Given the description of an element on the screen output the (x, y) to click on. 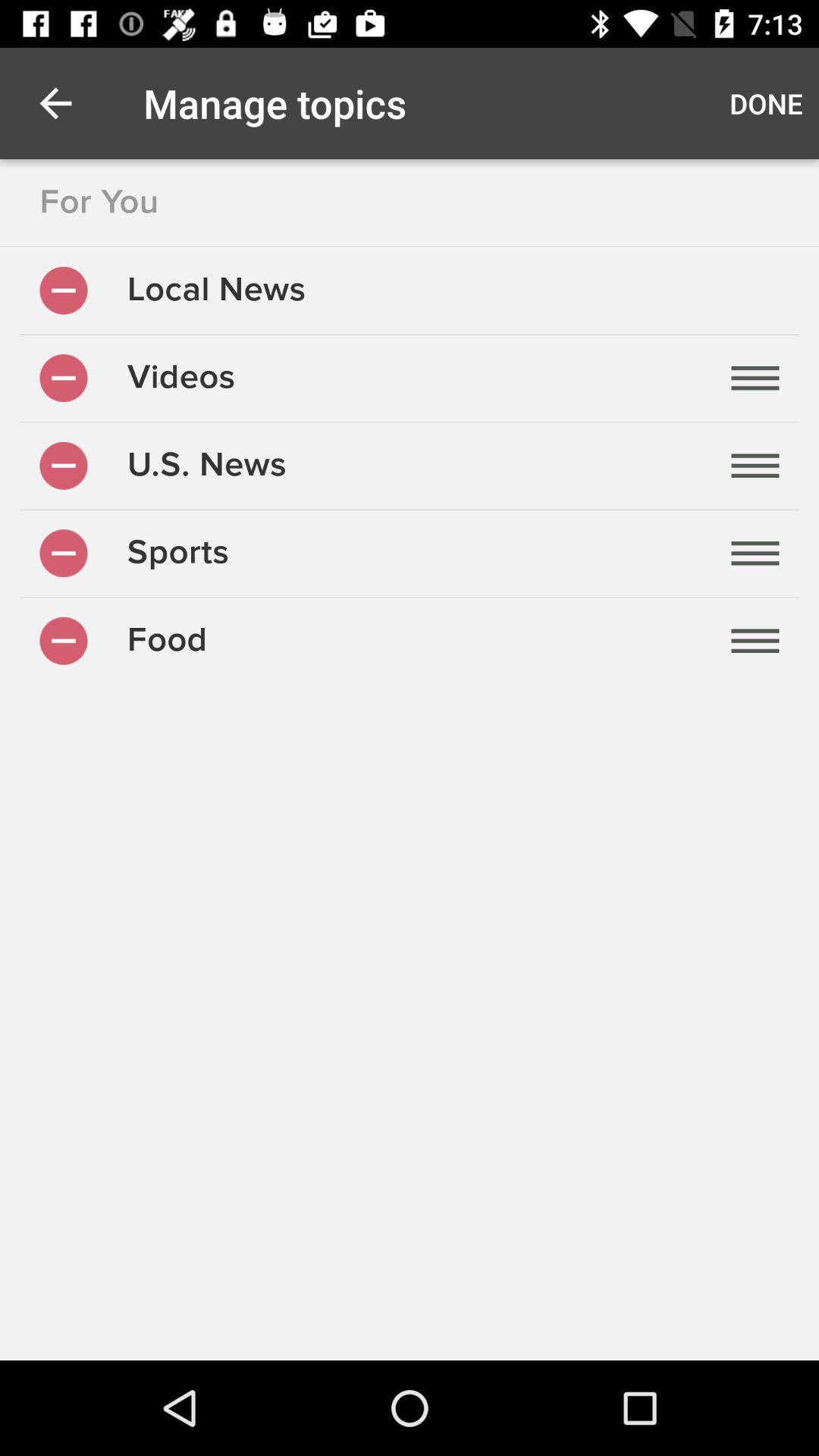
turn on the done (766, 103)
